Given the description of an element on the screen output the (x, y) to click on. 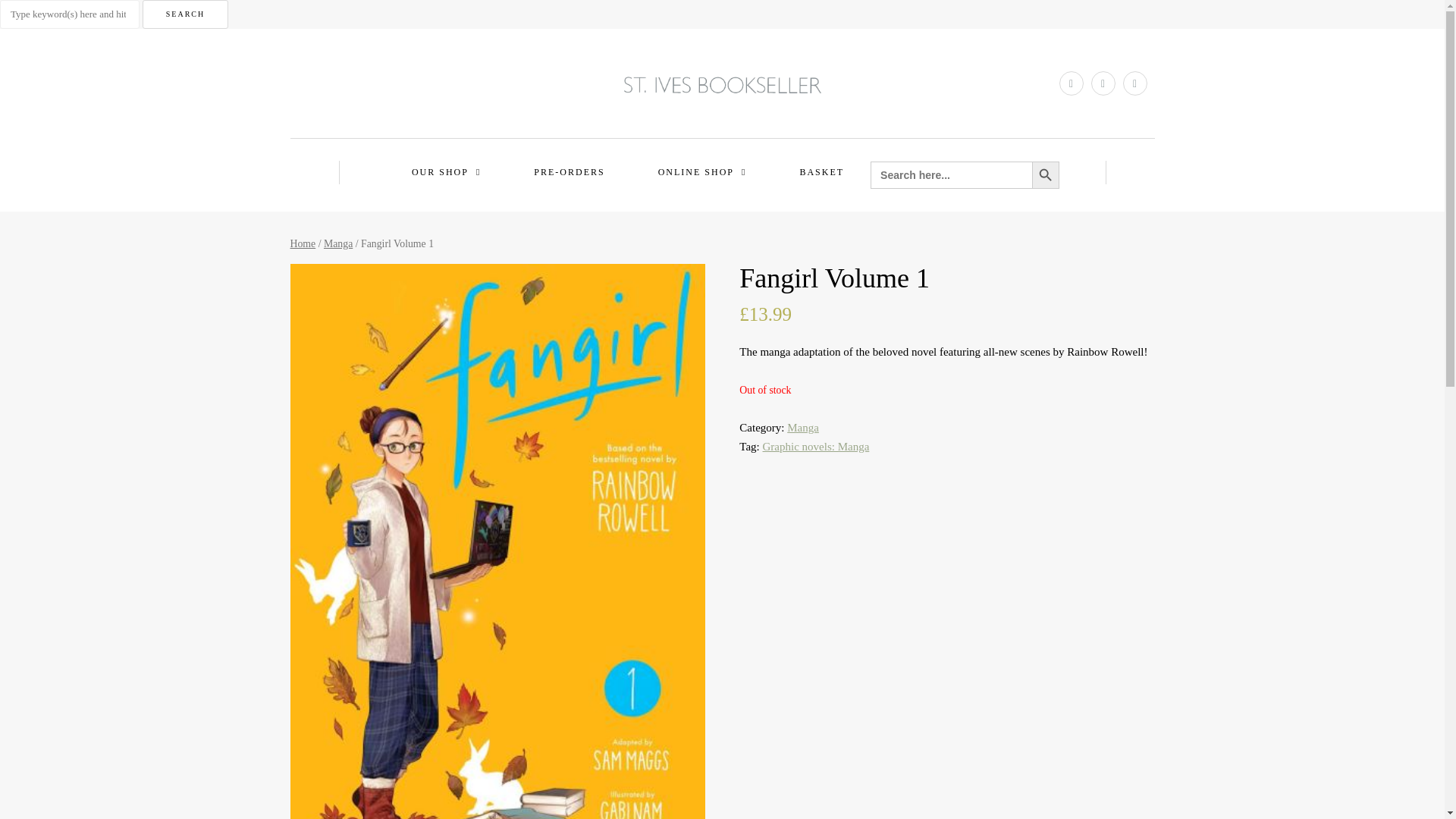
Search (185, 14)
ONLINE SHOP (702, 172)
PRE-ORDERS (568, 172)
OUR SHOP (445, 172)
Search (185, 14)
